Given the description of an element on the screen output the (x, y) to click on. 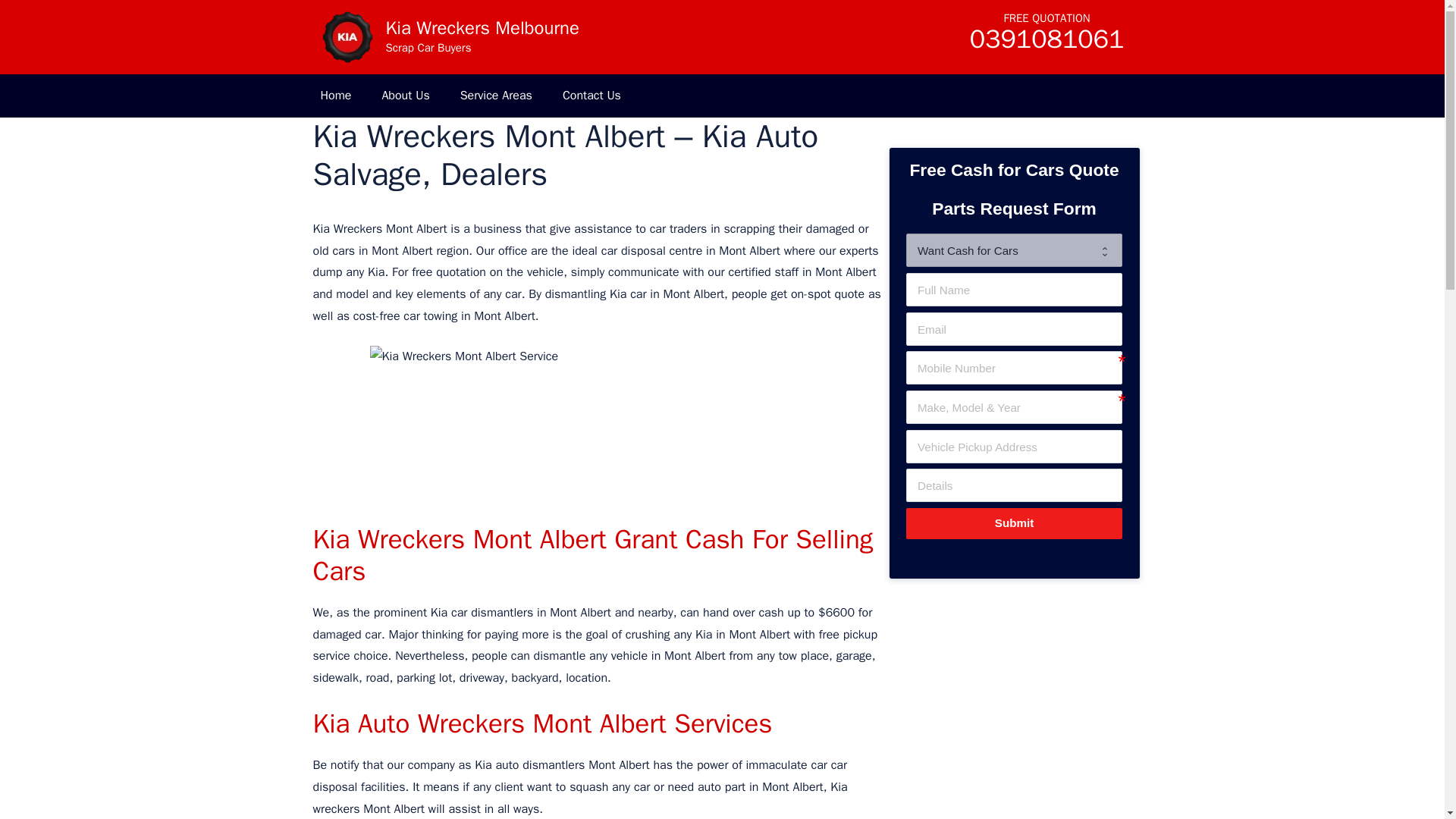
Service Areas (496, 95)
Home (335, 95)
Kia Wreckers Melbourne (346, 36)
Submit (1013, 522)
Kia Wreckers Melbourne (346, 36)
About Us (405, 95)
Contact Us (591, 95)
Kia Wreckers Melbourne (481, 27)
0391081061 (1046, 44)
